Given the description of an element on the screen output the (x, y) to click on. 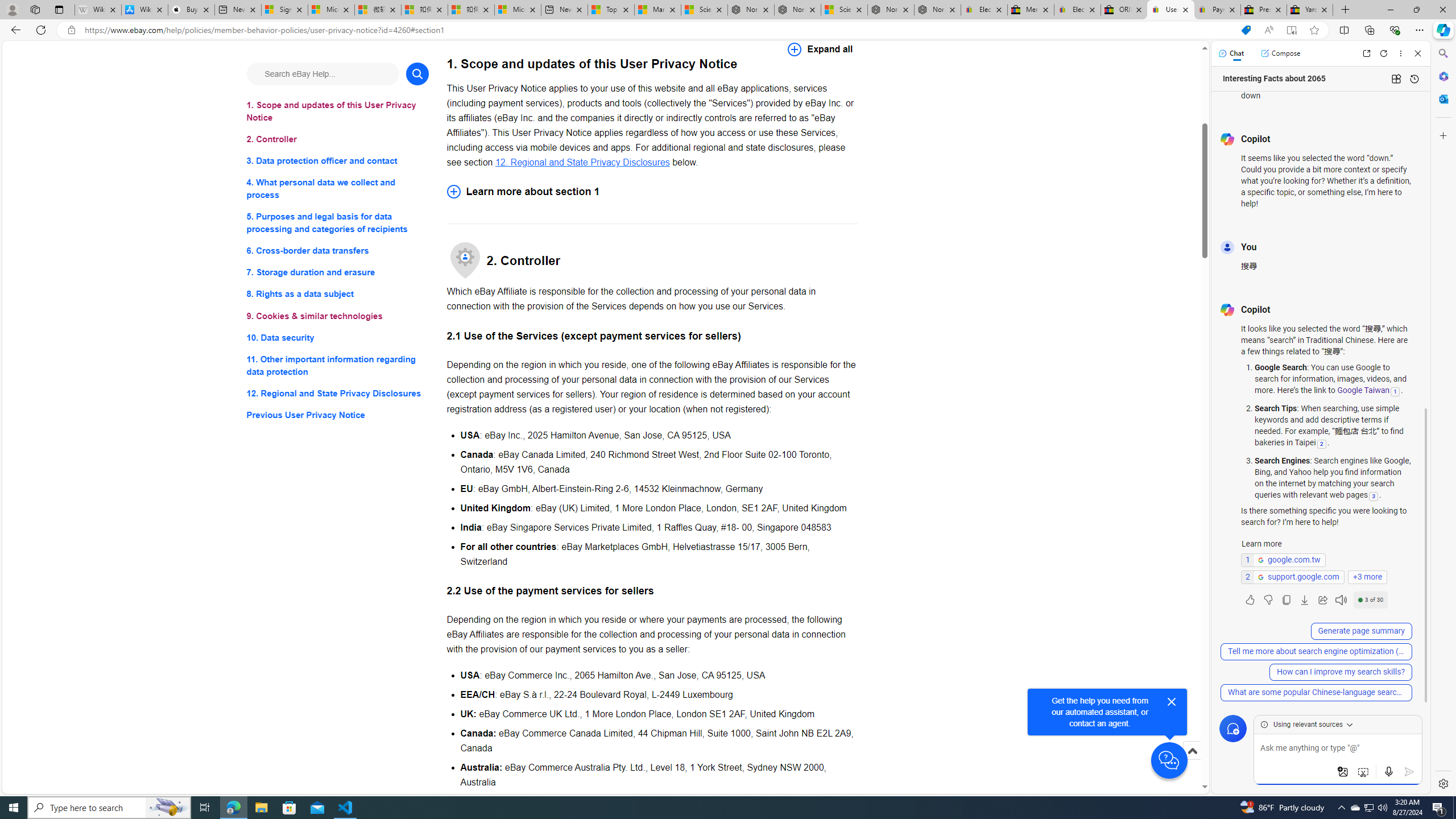
9. Cookies & similar technologies (337, 315)
7. Storage duration and erasure (337, 272)
12. Regional and State Privacy Disclosures (337, 392)
